Given the description of an element on the screen output the (x, y) to click on. 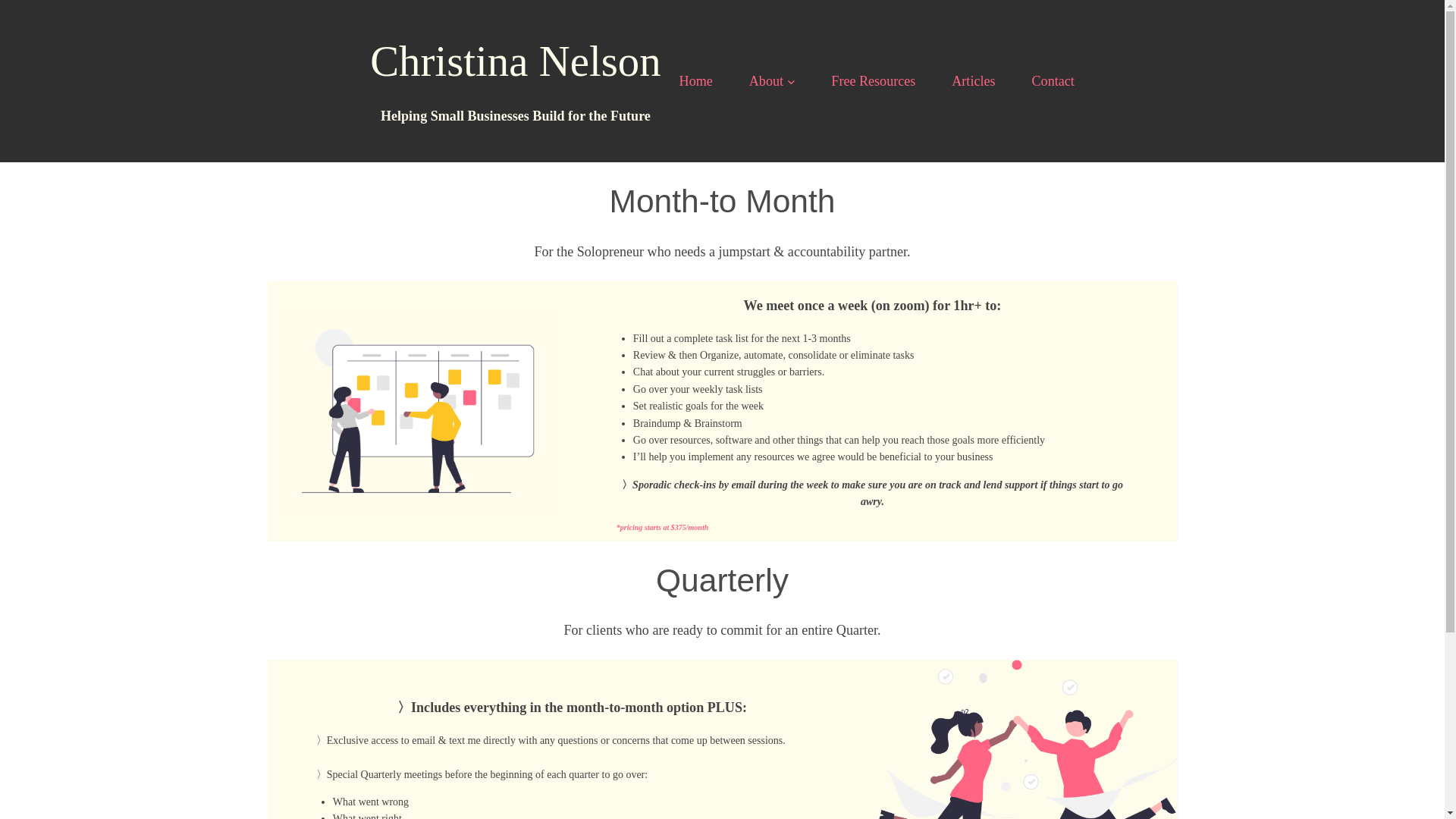
Home (696, 81)
Articles (973, 81)
About (766, 81)
Contact (1053, 81)
Free Resources (873, 81)
